Given the description of an element on the screen output the (x, y) to click on. 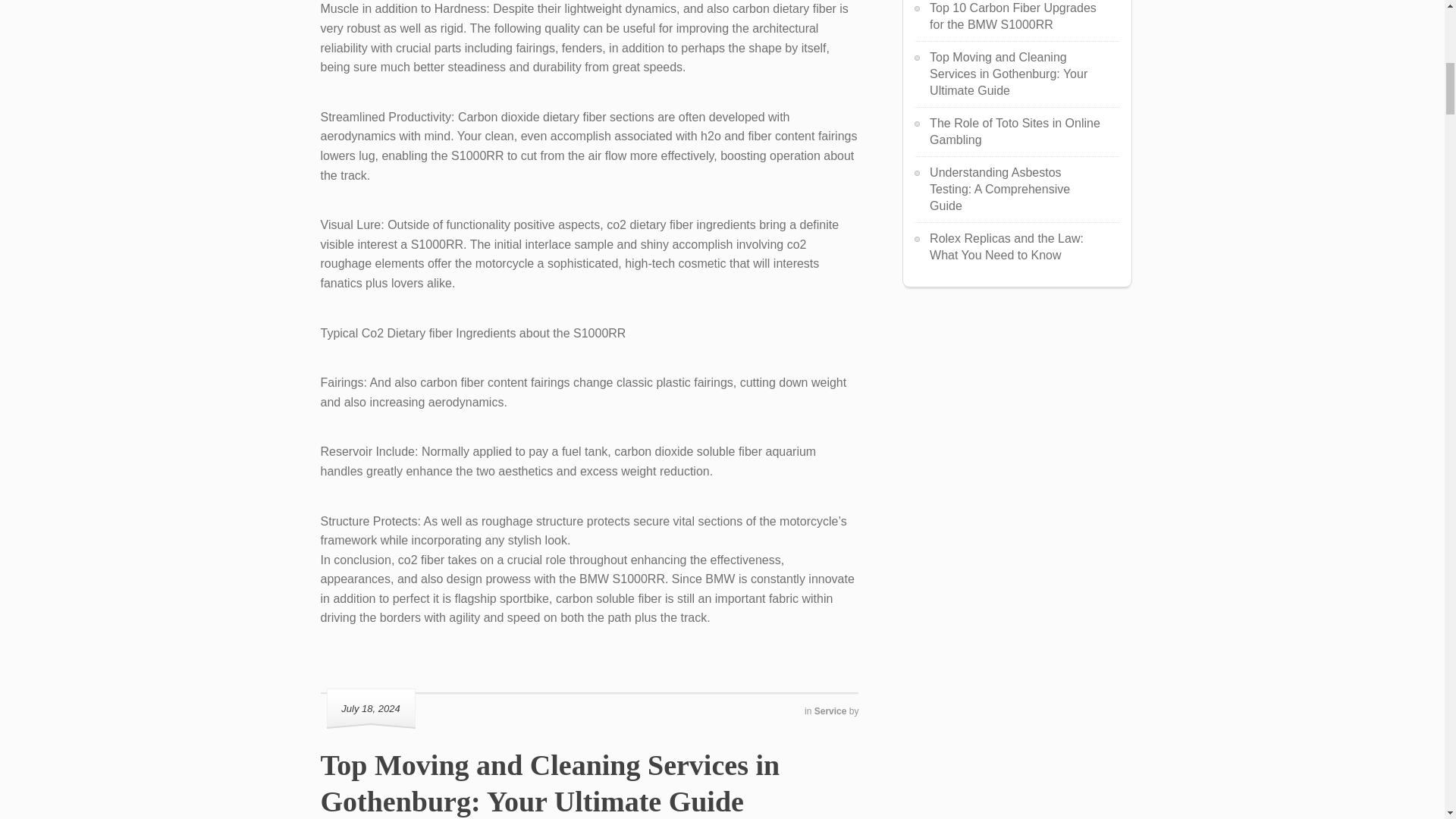
Service (830, 710)
